Given the description of an element on the screen output the (x, y) to click on. 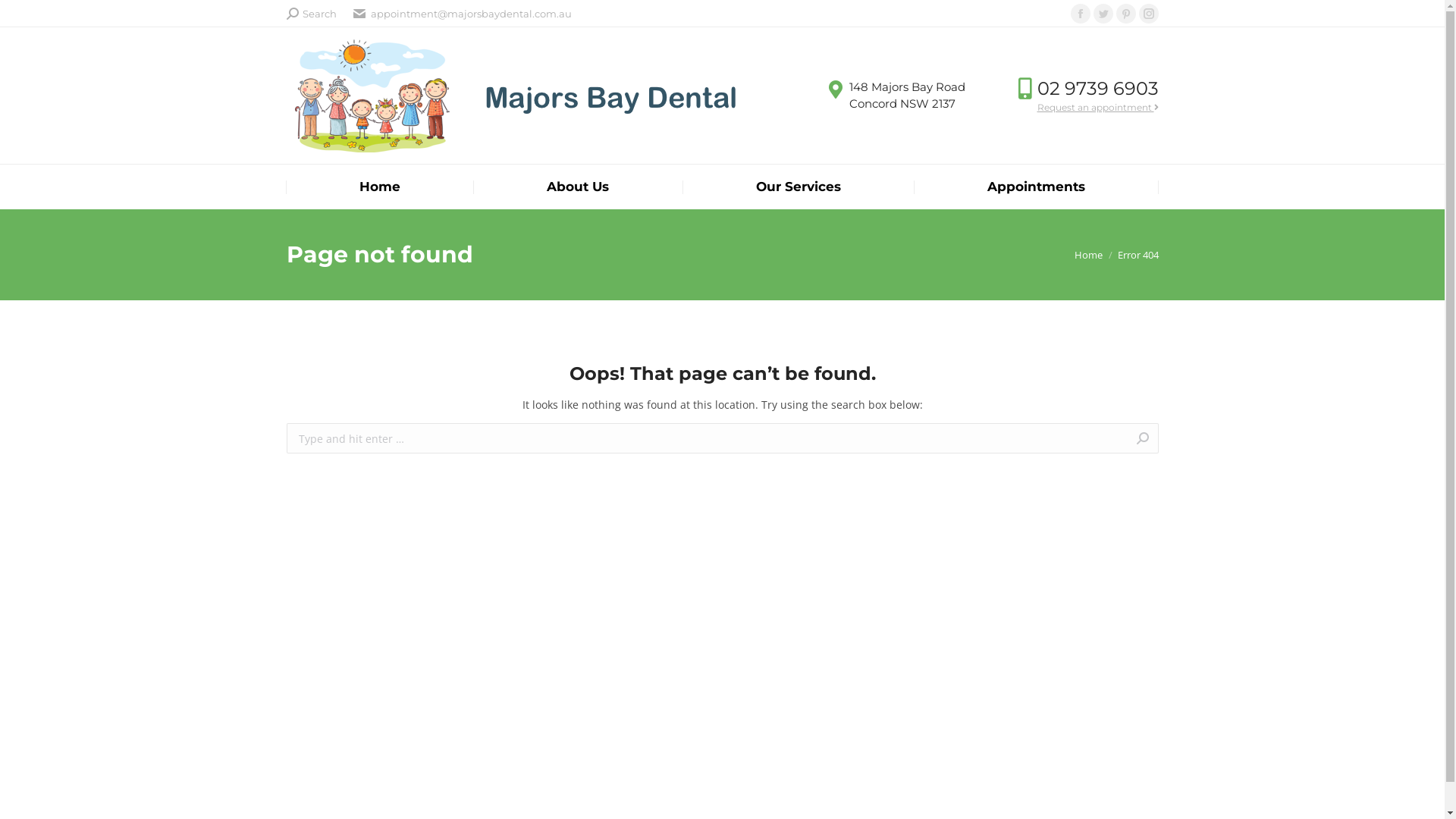
Pinterest page opens in new window Element type: text (1125, 13)
Appointments Element type: text (1036, 186)
Twitter page opens in new window Element type: text (1103, 13)
Search Element type: text (311, 13)
Request an appointment Element type: text (1097, 106)
Go! Element type: text (1184, 439)
Home Element type: text (1087, 254)
Go! Element type: text (25, 16)
Instagram page opens in new window Element type: text (1148, 13)
Our Services Element type: text (798, 186)
Home Element type: text (379, 186)
About Us Element type: text (577, 186)
Facebook page opens in new window Element type: text (1080, 13)
